Given the description of an element on the screen output the (x, y) to click on. 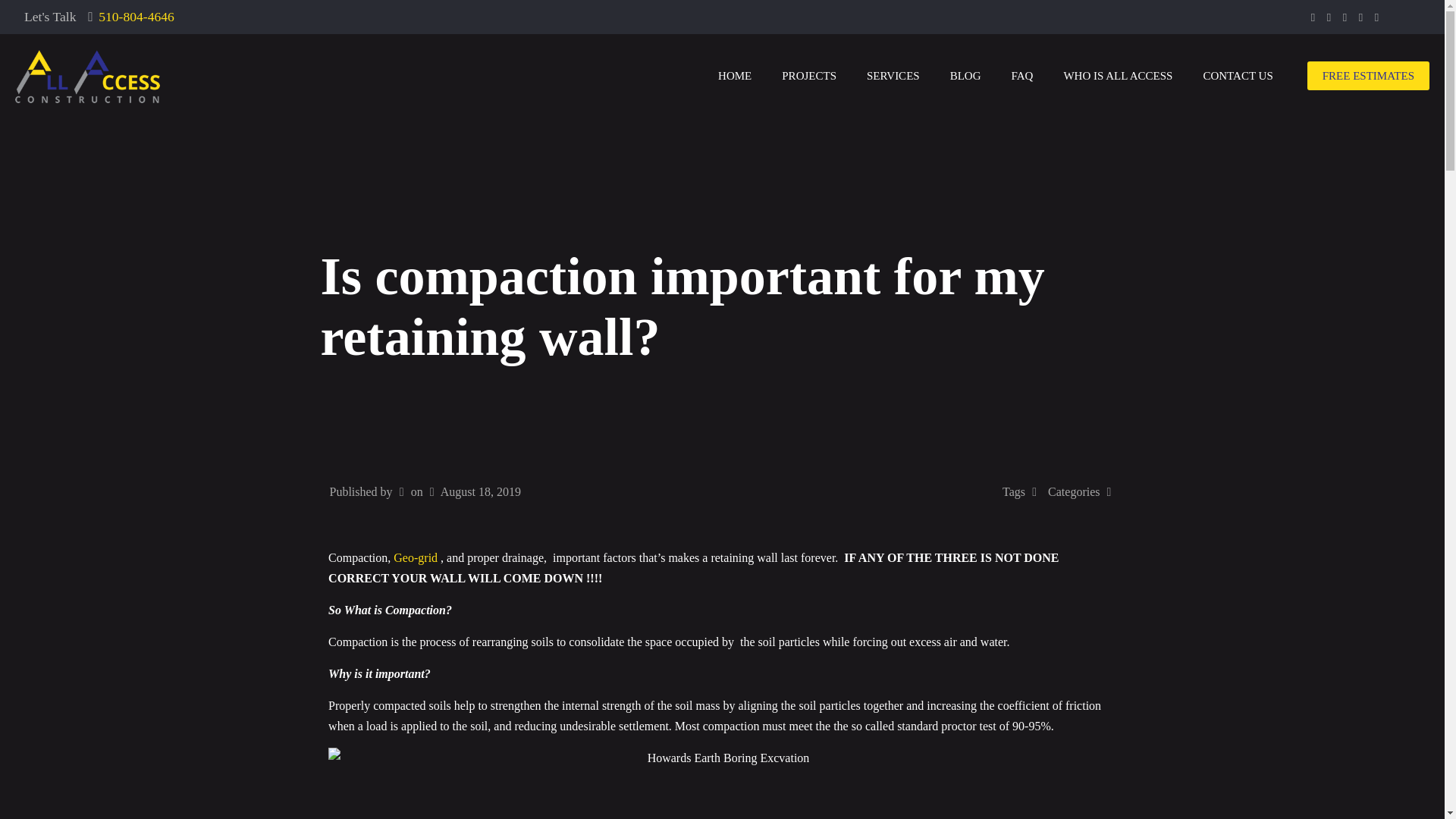
PROJECTS (809, 75)
SERVICES (892, 75)
YouTube (1345, 17)
Compaction Test Bay area  (722, 783)
WHO IS ALL ACCESS (1118, 75)
CONTACT US (1237, 75)
Facebook (1313, 17)
Geo-grid (415, 557)
All Access Construction (87, 75)
Instagram (1376, 17)
Do I need Geogrid for my Retaining Wall? (415, 557)
510-804-4646 (136, 16)
FREE ESTIMATES (1368, 75)
LinkedIn (1361, 17)
